Given the description of an element on the screen output the (x, y) to click on. 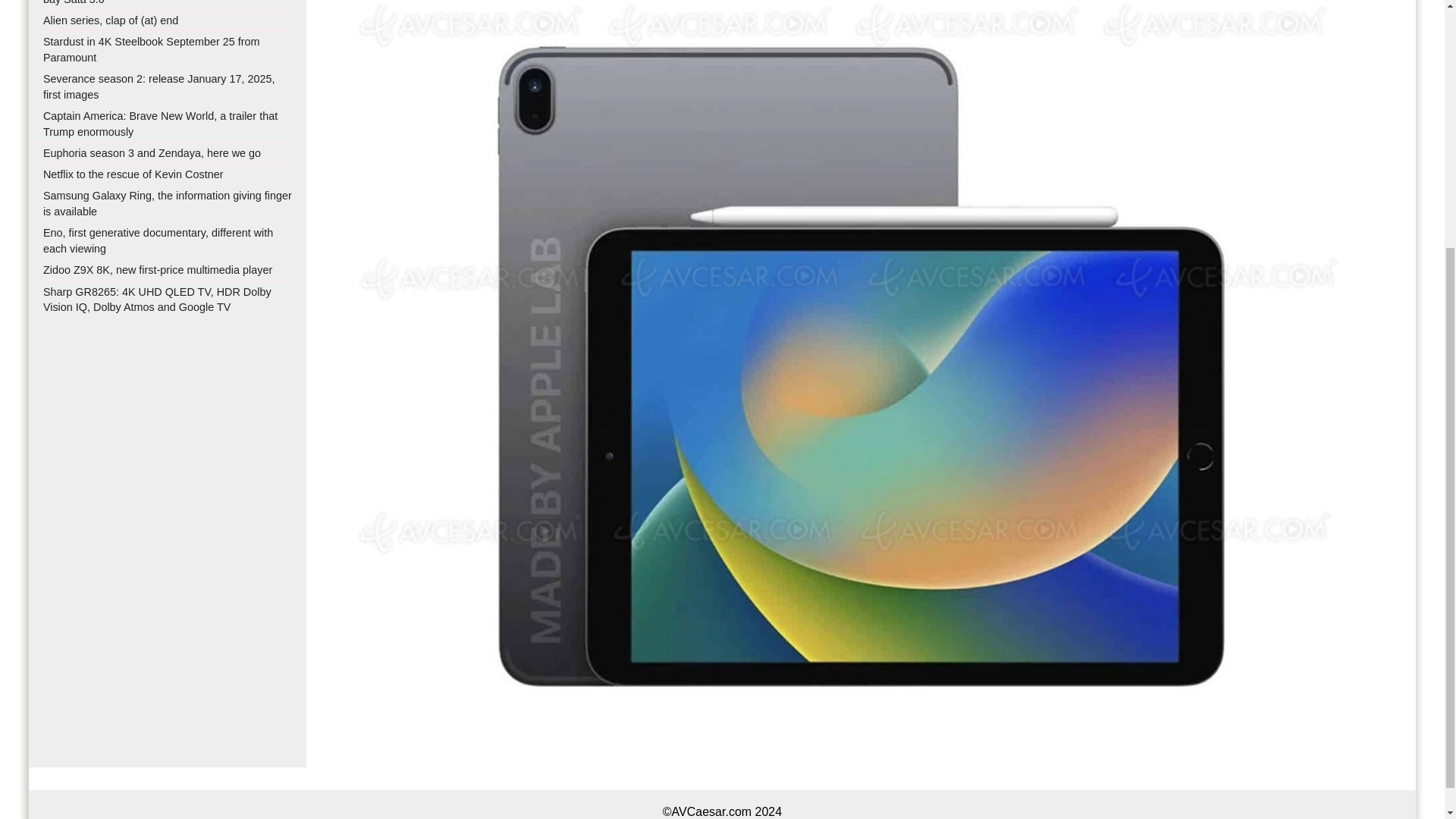
Netflix to the rescue of Kevin Costner (133, 174)
Stardust in 4K Steelbook September 25 from Paramount (151, 49)
Severance season 2: release January 17, 2025, first images (159, 86)
Euphoria season 3 and Zendaya, here we go (151, 152)
Zidoo Z9X 8K, new first-price multimedia player (157, 269)
Zidoo Z30 Pro, new media player with 3.5" HDD bay Sata 3.0 (159, 2)
